Given the description of an element on the screen output the (x, y) to click on. 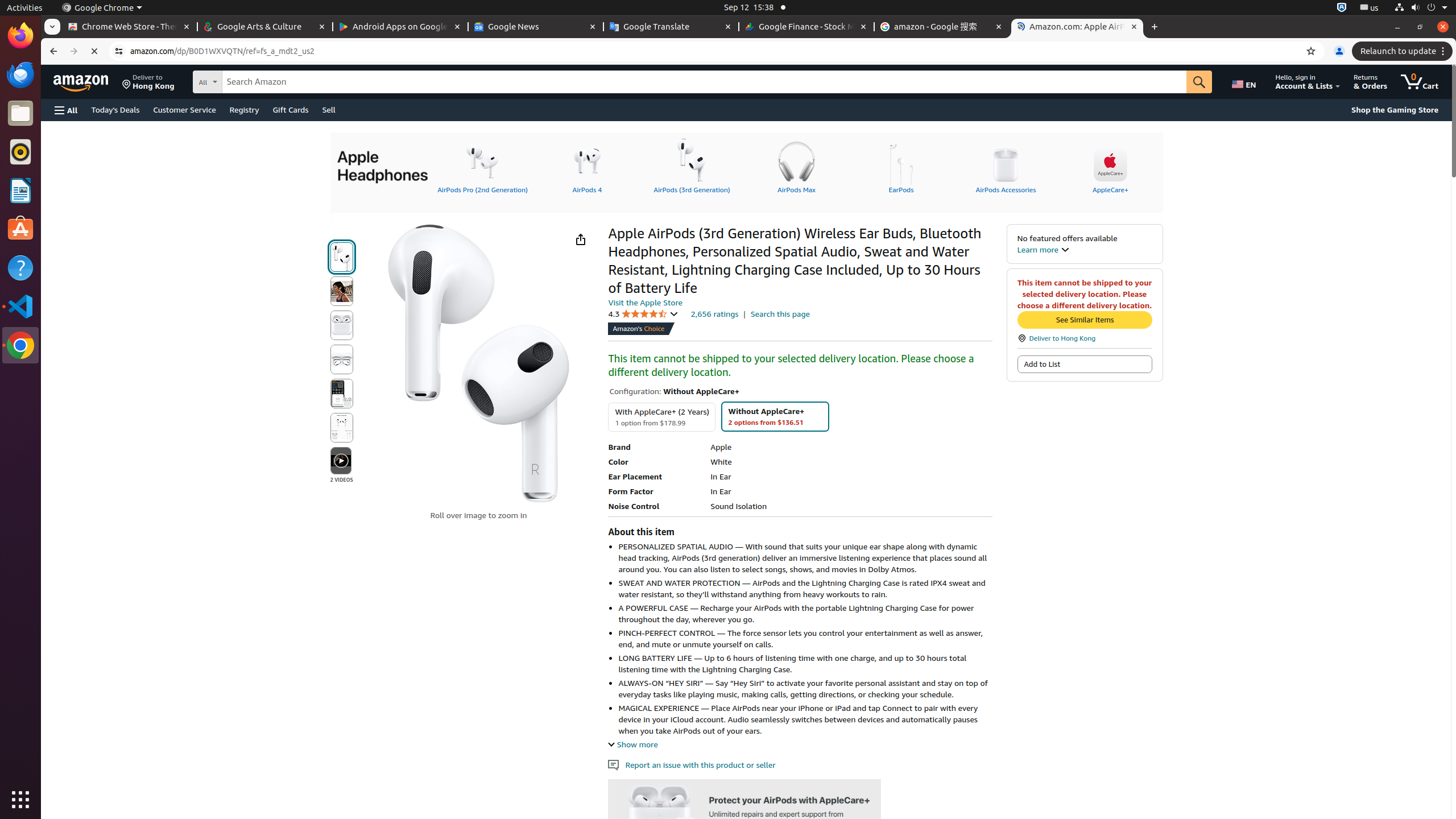
0 items in cart Element type: link (1419, 81)
Add to List Element type: radio-button (1084, 363)
AirPods Max Element type: link (796, 165)
Choose a language for shopping. Element type: link (1246, 81)
Today's Deals Element type: link (115, 109)
